Given the description of an element on the screen output the (x, y) to click on. 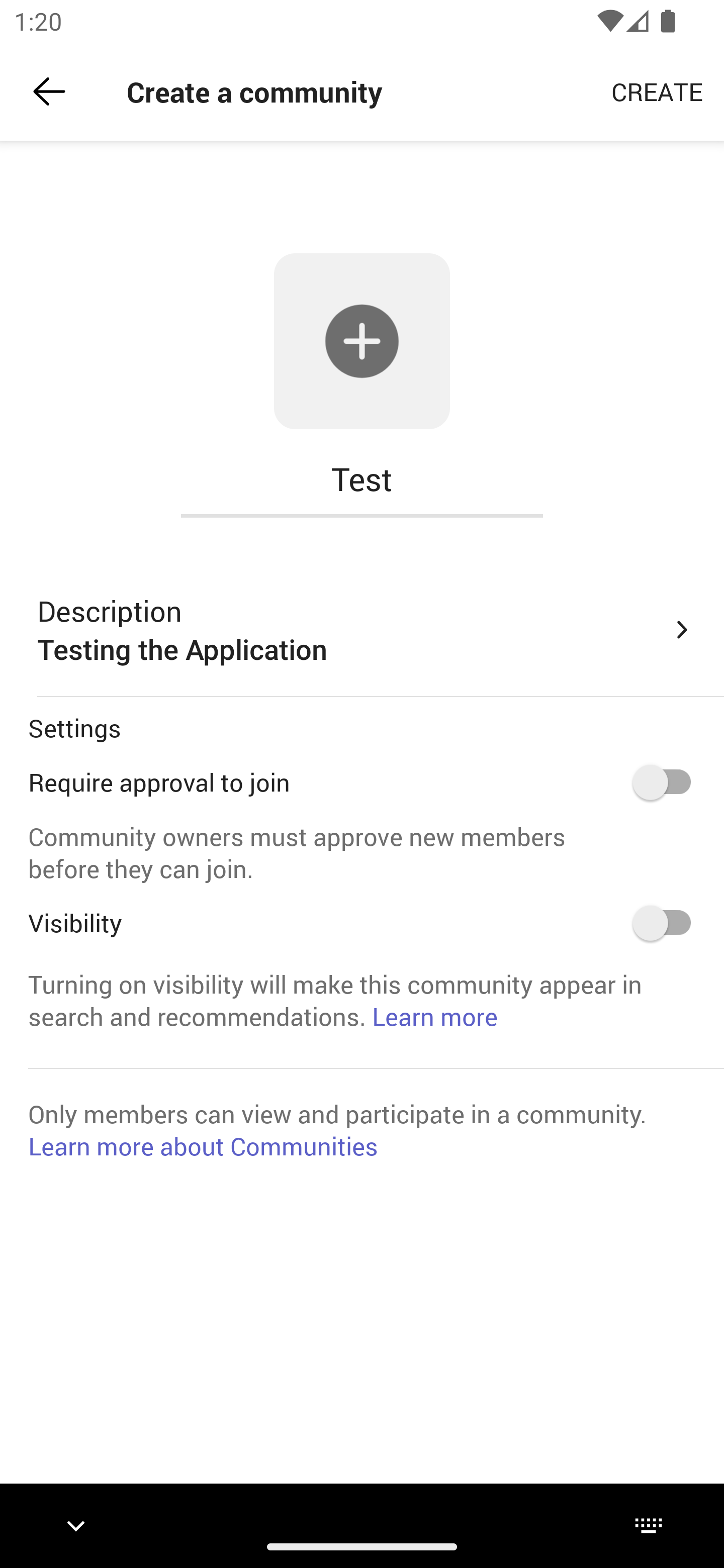
Back (49, 91)
CREATE (657, 90)
Add community image (361, 341)
Test (362, 478)
Description Testing the Application (366, 629)
Require approval to join (668, 781)
Visibility (668, 922)
